Given the description of an element on the screen output the (x, y) to click on. 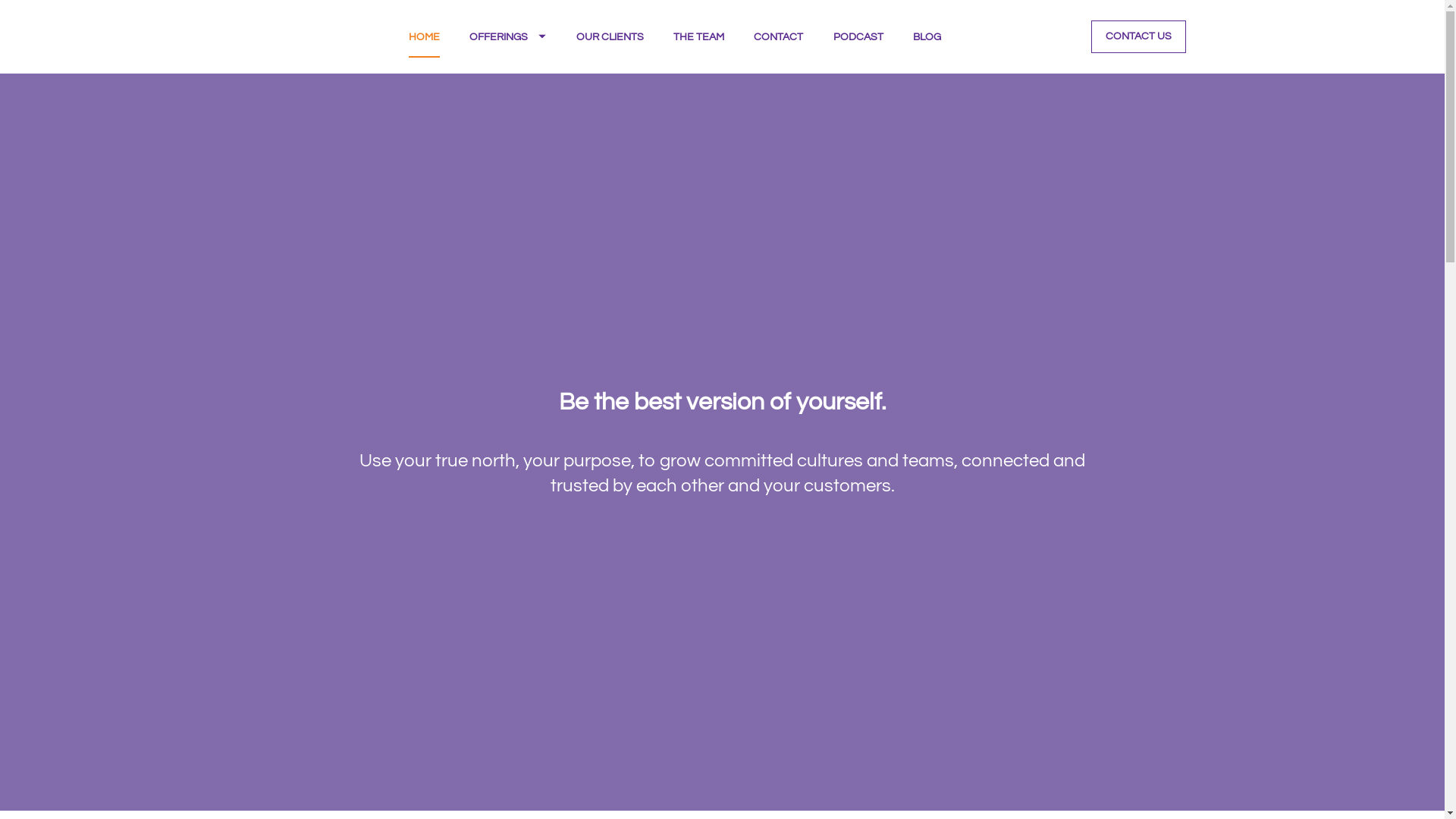
THE TEAM Element type: text (698, 36)
OUR CLIENTS Element type: text (609, 36)
OFFERINGS Element type: text (507, 36)
PODCAST Element type: text (858, 36)
HOME Element type: text (423, 36)
BLOG Element type: text (927, 36)
CONTACT US Element type: text (1138, 36)
CONTACT Element type: text (778, 36)
